Given the description of an element on the screen output the (x, y) to click on. 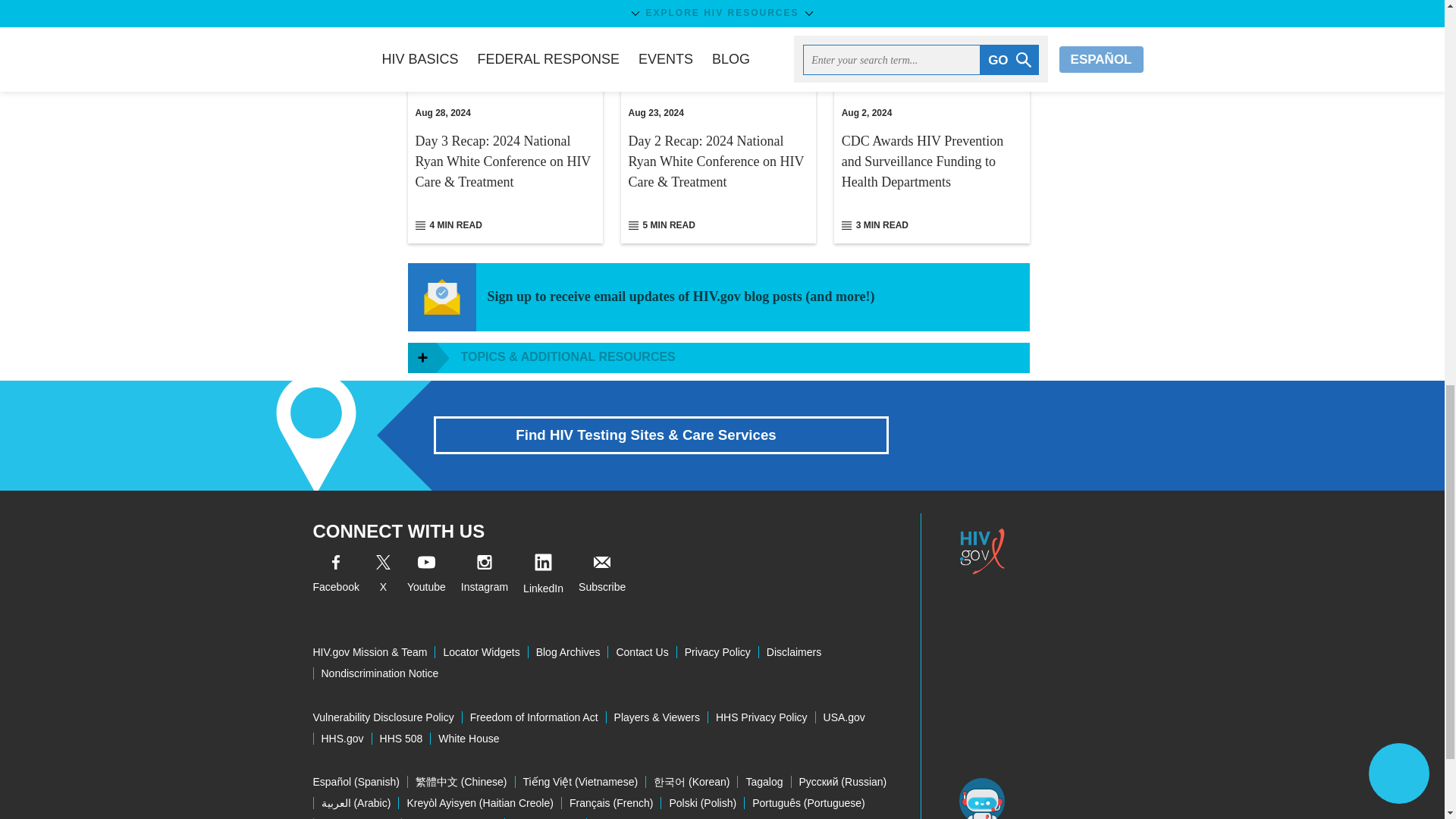
Visit to subscribe to HIV.gov email updates (602, 575)
Visit HIV.gov on Instagram (484, 575)
Visit HIV.gov on Facebook (335, 575)
